Given the description of an element on the screen output the (x, y) to click on. 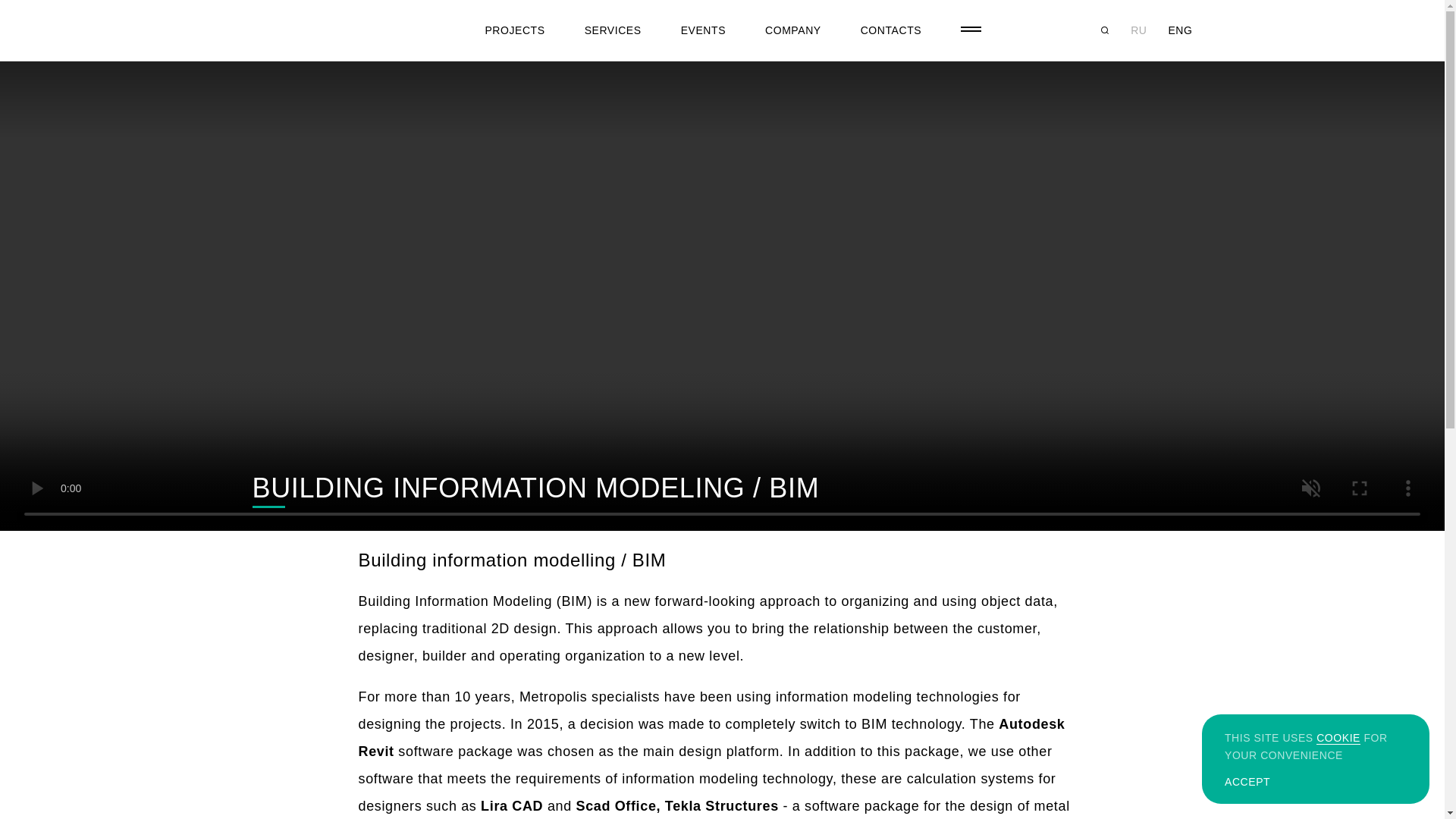
SERVICES (613, 30)
EVENTS (703, 30)
PROJECTS (514, 30)
